Given the description of an element on the screen output the (x, y) to click on. 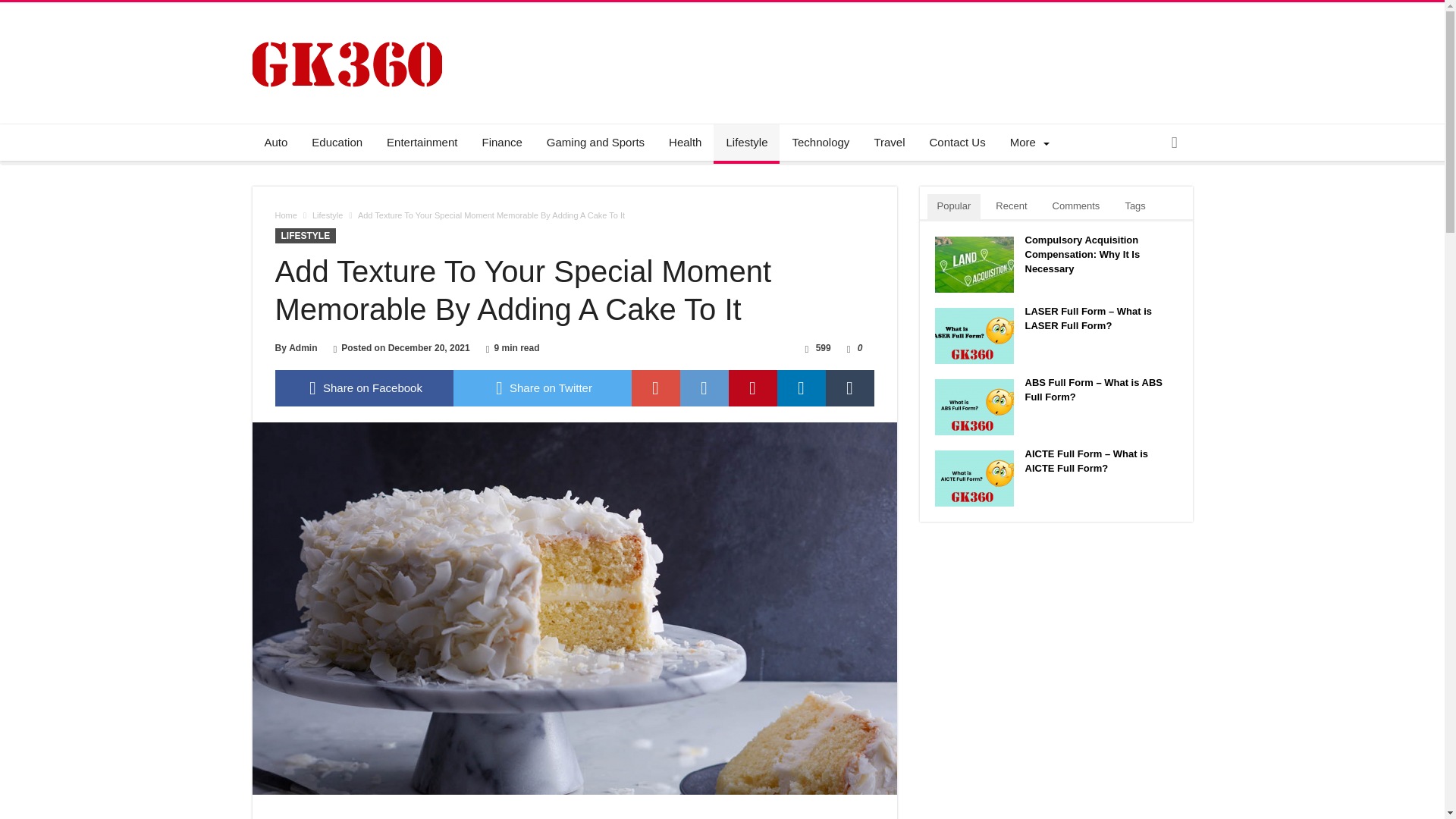
I like this article (849, 347)
Health (684, 142)
Admin (302, 347)
More (1027, 142)
Entertainment (421, 142)
Contact Us (957, 142)
linkedin (800, 388)
tumblr (849, 388)
Finance (501, 142)
GK360 (346, 24)
Home (286, 215)
pinterest (752, 388)
twitter (541, 388)
reddit (703, 388)
Technology (819, 142)
